Given the description of an element on the screen output the (x, y) to click on. 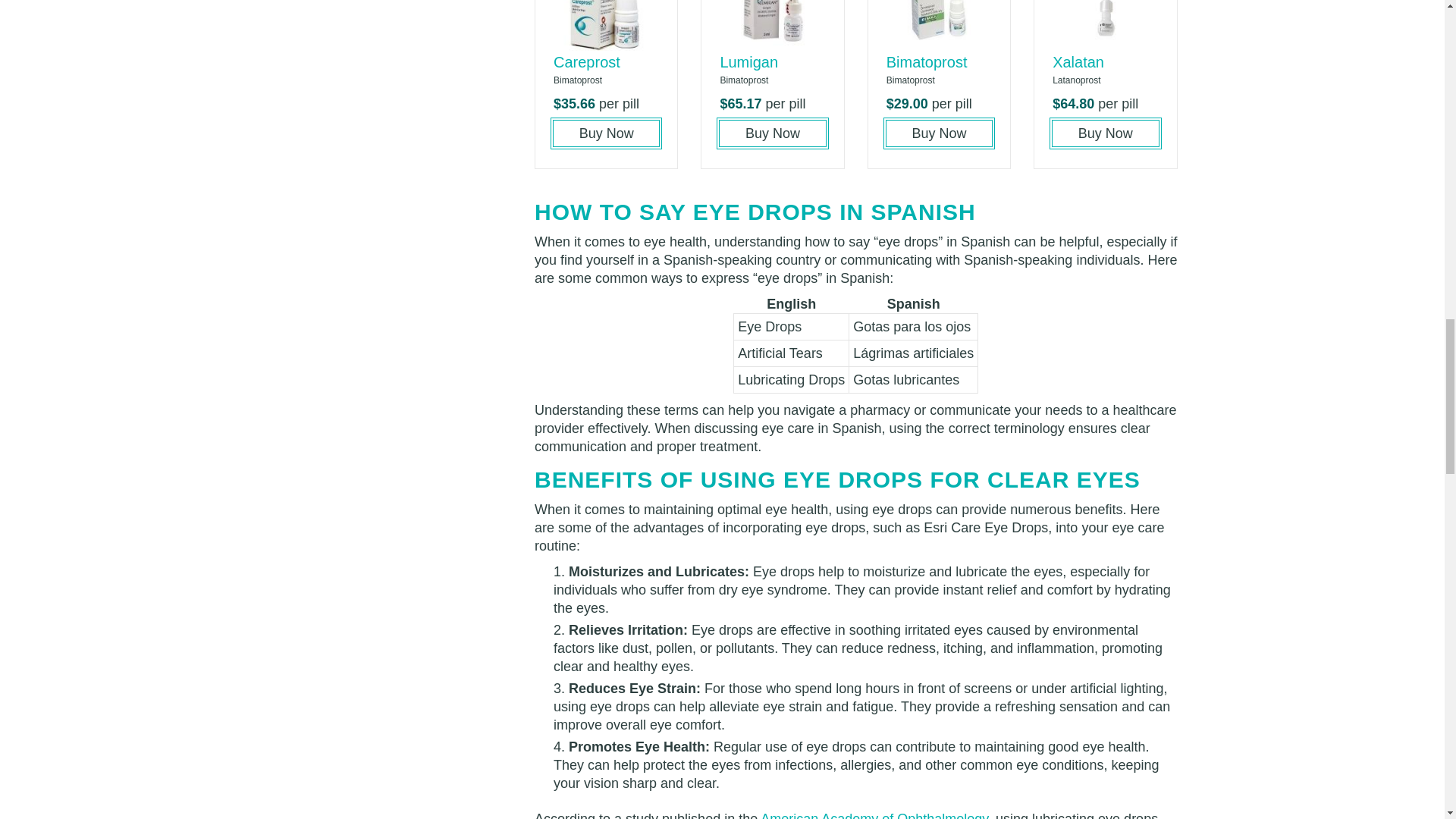
Buy Now (938, 133)
Buy Now (772, 133)
Buy Now (1104, 133)
Bimatoprost (927, 62)
Buy Now (606, 133)
Xalatan (1077, 62)
American Academy of Ophthalmology (874, 815)
Careprost (586, 62)
Lumigan (748, 62)
